Given the description of an element on the screen output the (x, y) to click on. 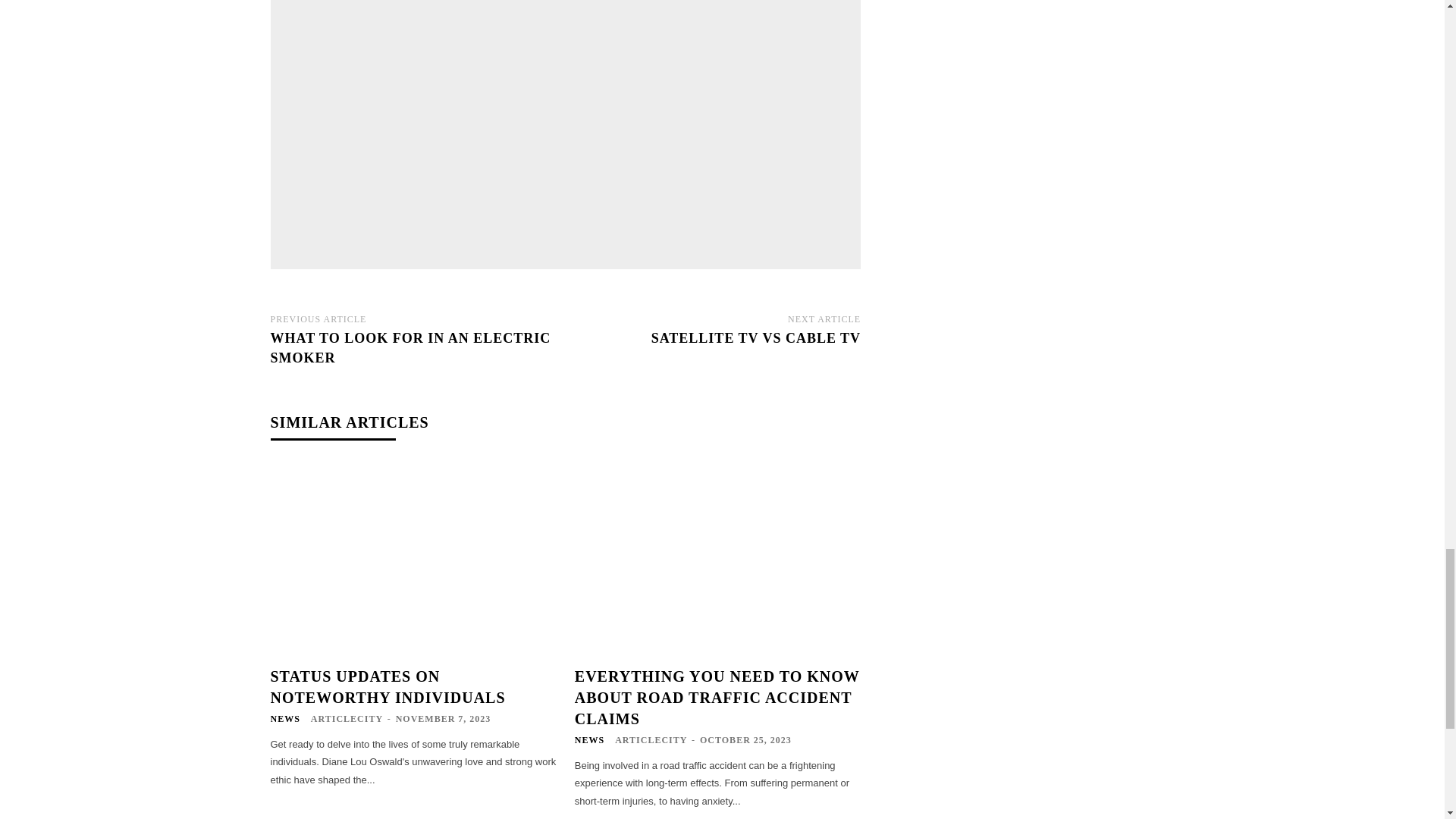
Status Updates on Noteworthy Individuals (387, 686)
Status Updates on Noteworthy Individuals (412, 560)
Articlecity (475, 126)
